Given the description of an element on the screen output the (x, y) to click on. 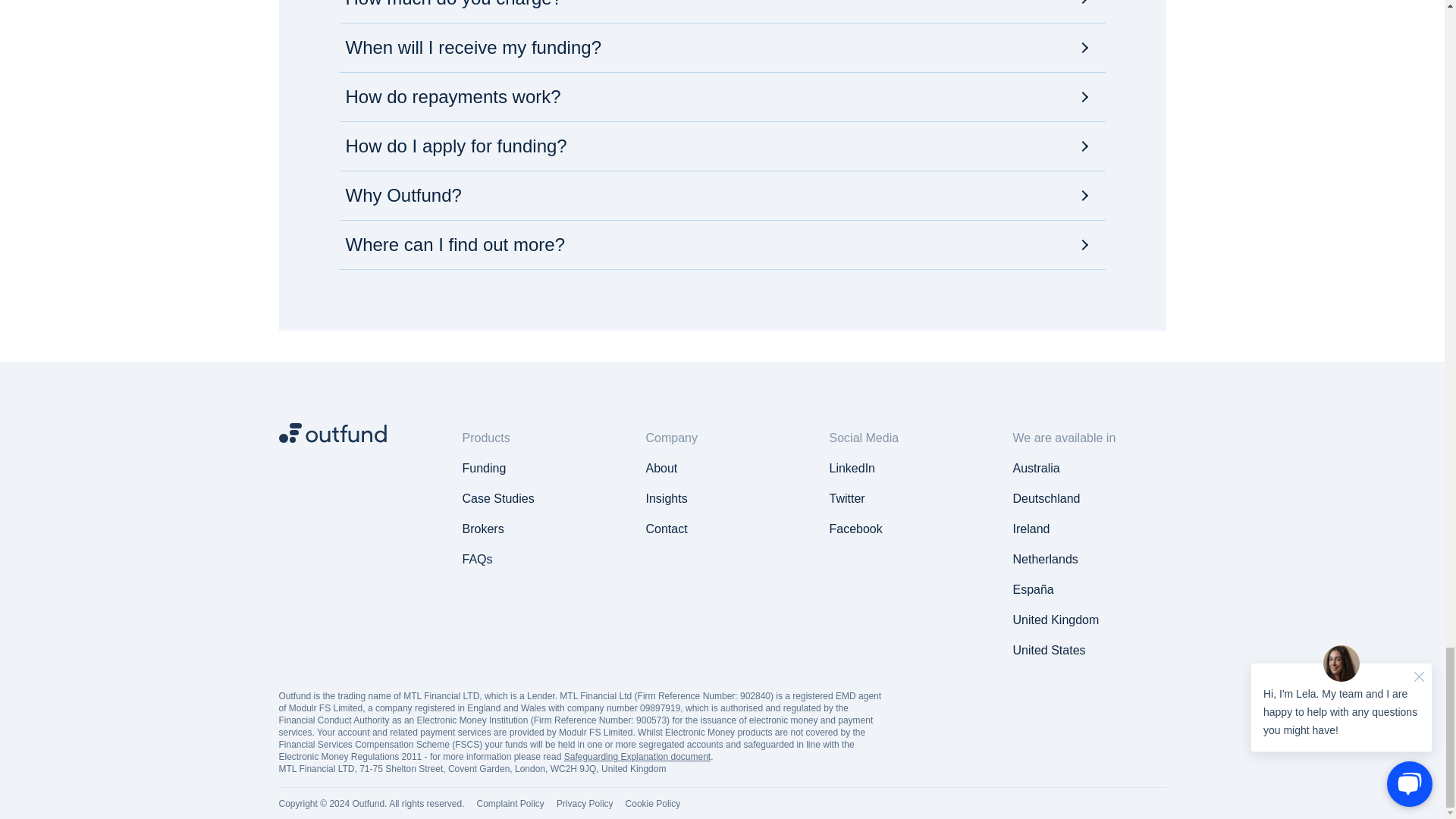
Case Studies (498, 498)
Twitter (846, 498)
Outfund (333, 432)
Contact (666, 528)
Social Media (905, 434)
Insights (666, 498)
We are available in (355, 432)
Australia (1089, 434)
Brokers (1036, 468)
Ireland (483, 528)
FAQs (1031, 528)
Deutschland (478, 558)
Netherlands (1046, 498)
Products (1045, 558)
